Given the description of an element on the screen output the (x, y) to click on. 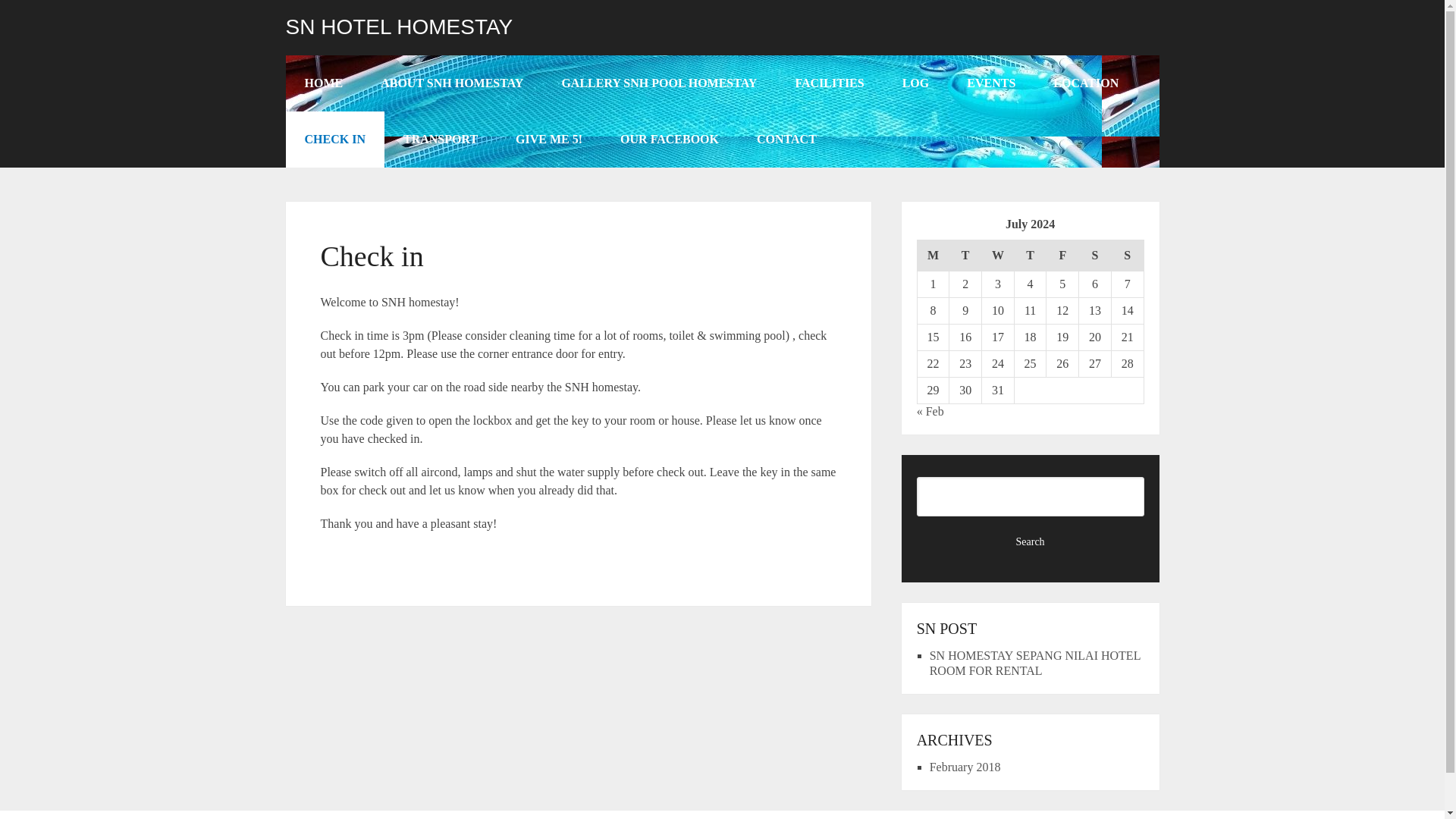
LOCATION (1085, 83)
Wednesday (997, 255)
HOME (323, 83)
FACILITIES (829, 83)
SN HOTEL HOMESTAY (398, 26)
OUR FACEBOOK (669, 139)
Tuesday (965, 255)
EVENTS (990, 83)
GIVE ME 5! (548, 139)
Sunday (1126, 255)
Search (1030, 542)
SN HOMESTAY SEPANG NILAI HOTEL ROOM FOR RENTAL (1035, 663)
ABOUT SNH HOMESTAY (451, 83)
Search (1030, 542)
Monday (933, 255)
